Given the description of an element on the screen output the (x, y) to click on. 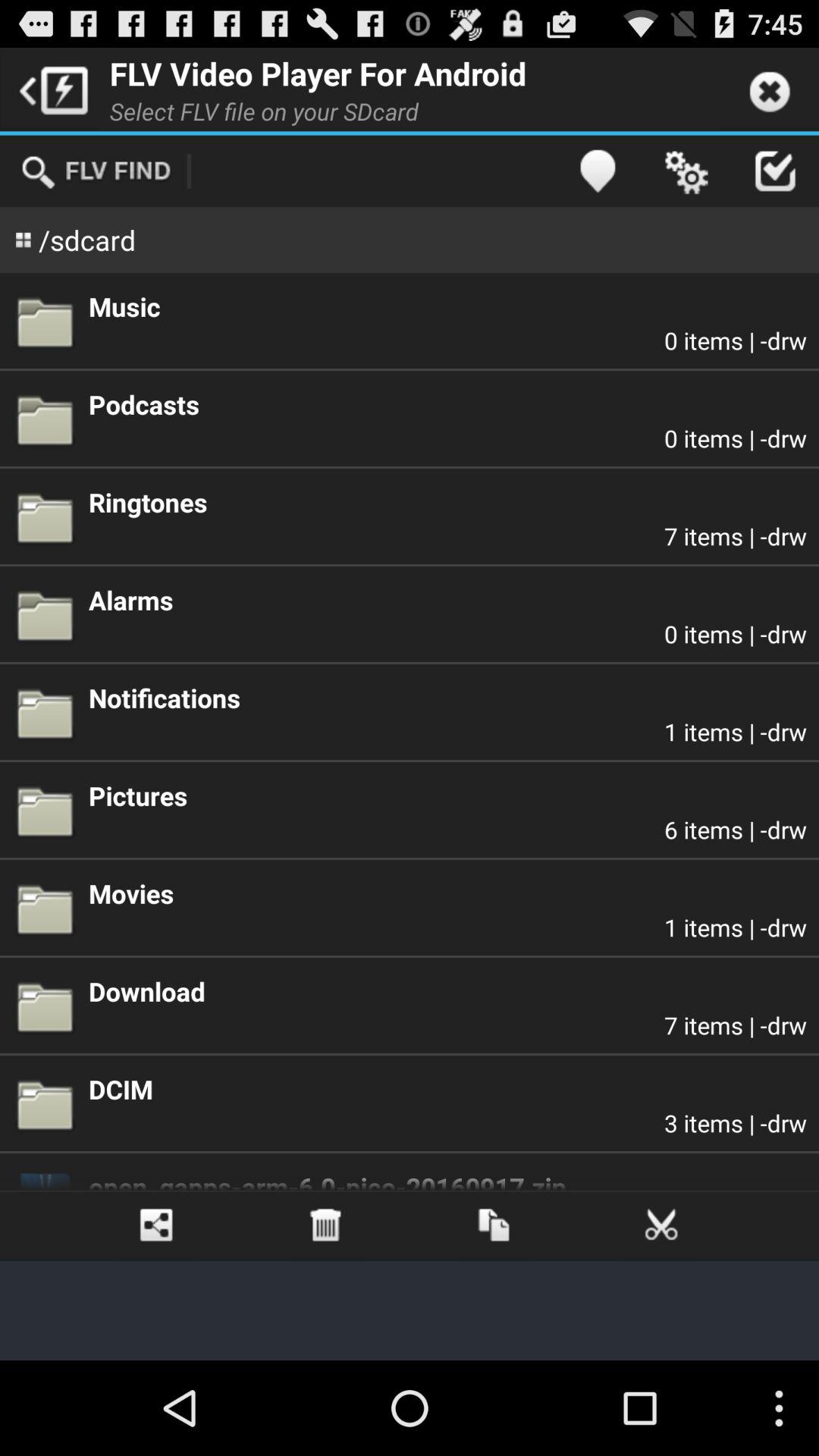
select app next to select flv file app (596, 171)
